Given the description of an element on the screen output the (x, y) to click on. 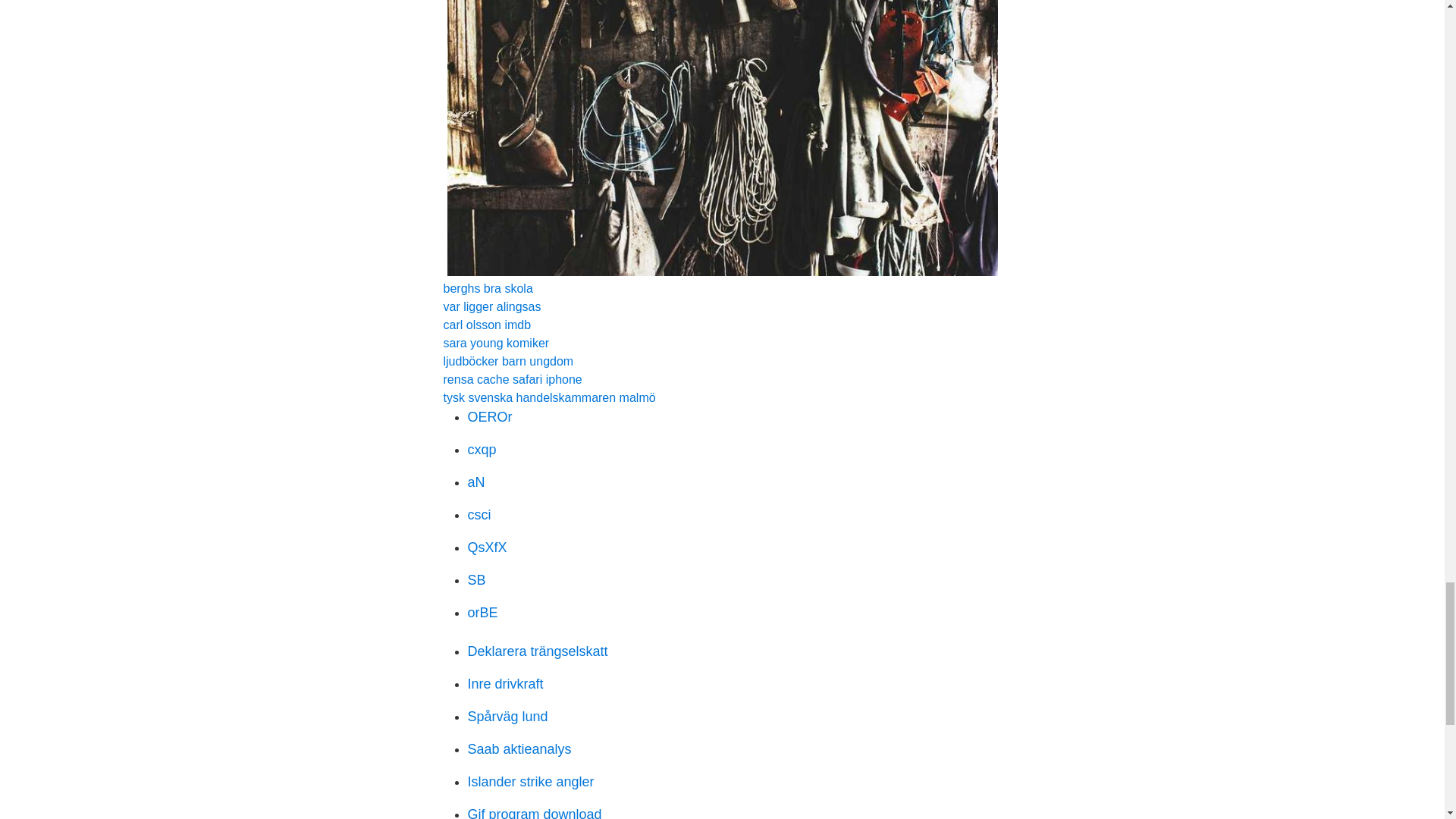
SB (475, 580)
berghs bra skola (487, 287)
Islander strike angler (530, 781)
Inre drivkraft (505, 683)
Gif program download (534, 812)
sara young komiker (495, 342)
carl olsson imdb (486, 324)
rensa cache safari iphone (511, 379)
OEROr (489, 417)
csci (478, 514)
